Given the description of an element on the screen output the (x, y) to click on. 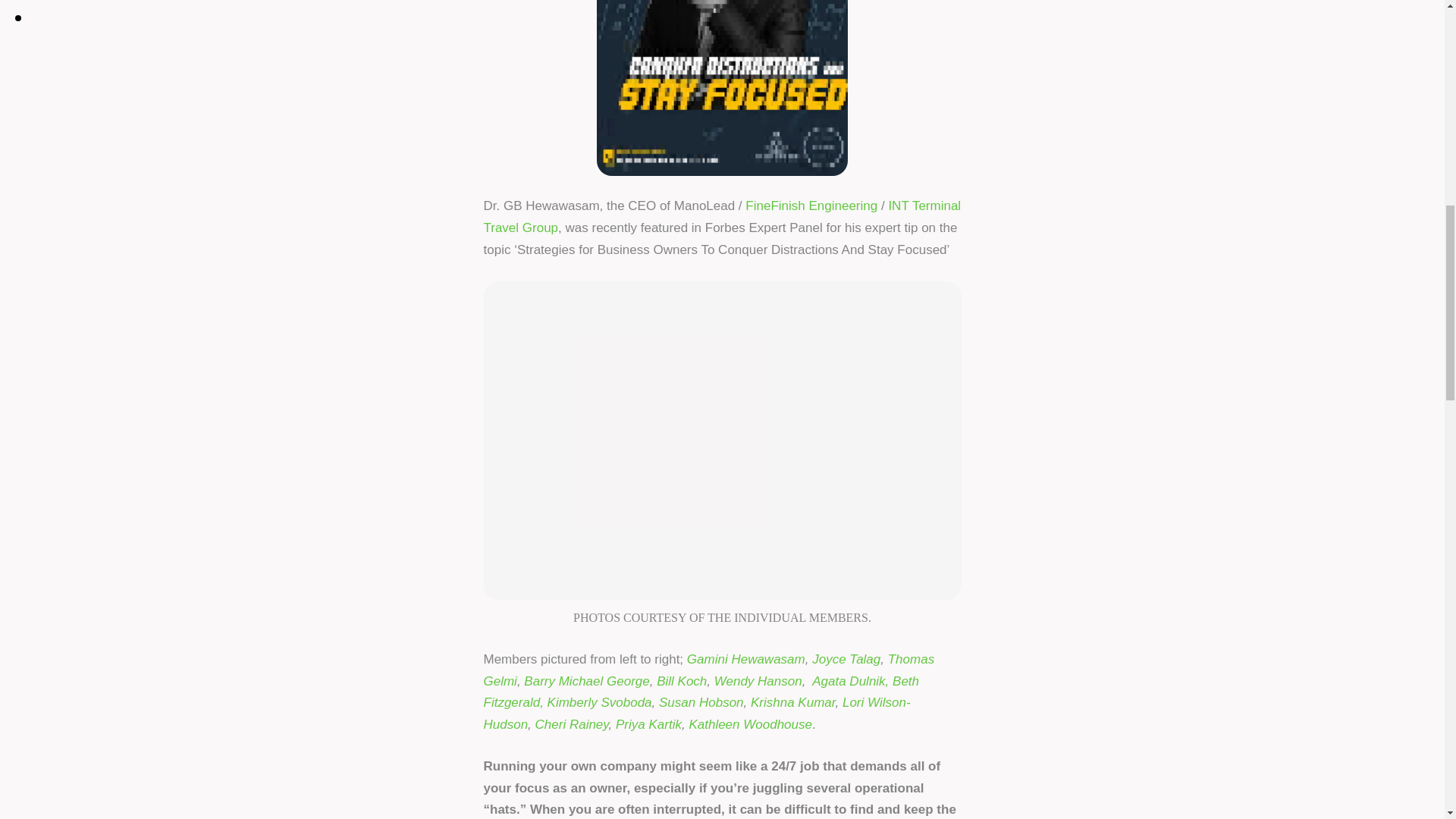
Joyce Talag (846, 658)
INT Terminal Travel Group (721, 217)
FineFinish Engineering (811, 205)
Gamini Hewawasam (746, 658)
